Given the description of an element on the screen output the (x, y) to click on. 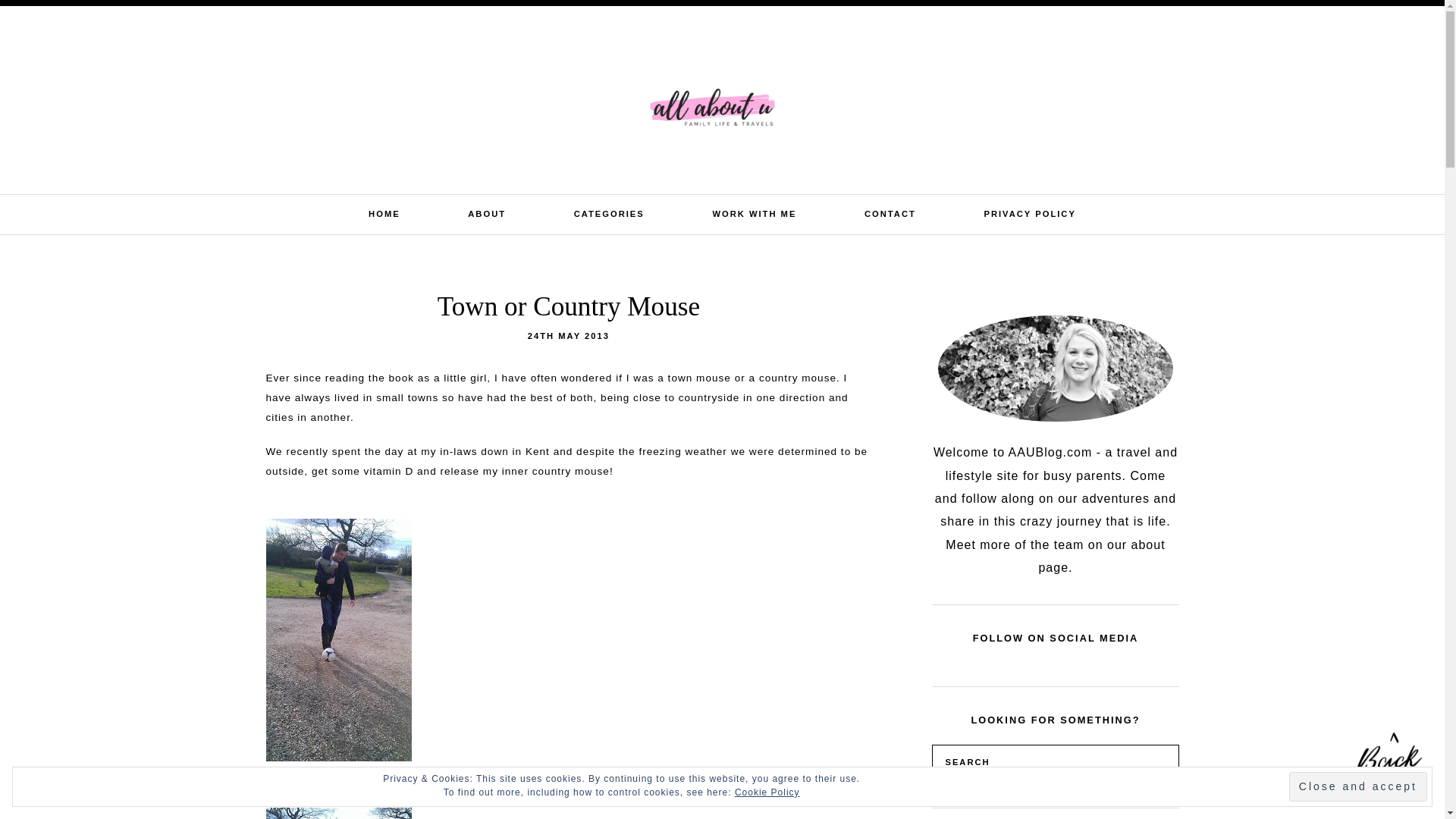
Search for: (1319, 23)
CONTACT (889, 214)
Close and accept (1357, 786)
PRIVACY POLICY (1029, 214)
WORK WITH ME (753, 214)
ABOUT (486, 214)
CATEGORIES (609, 214)
